Given the description of an element on the screen output the (x, y) to click on. 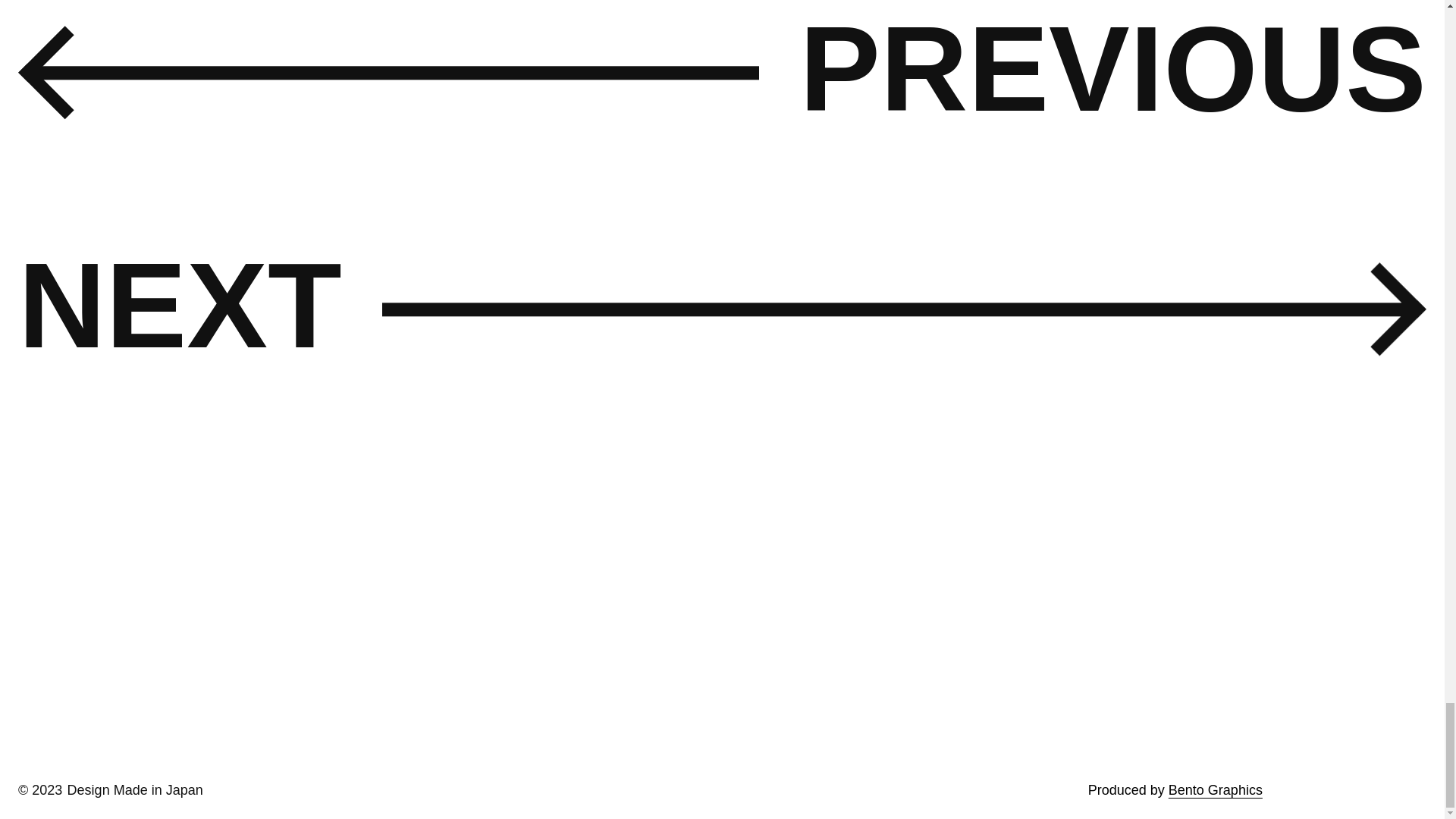
Bento Graphics (1215, 789)
Design Made in Japan (134, 789)
PREVIOUS (1112, 79)
NEXT (179, 305)
